Given the description of an element on the screen output the (x, y) to click on. 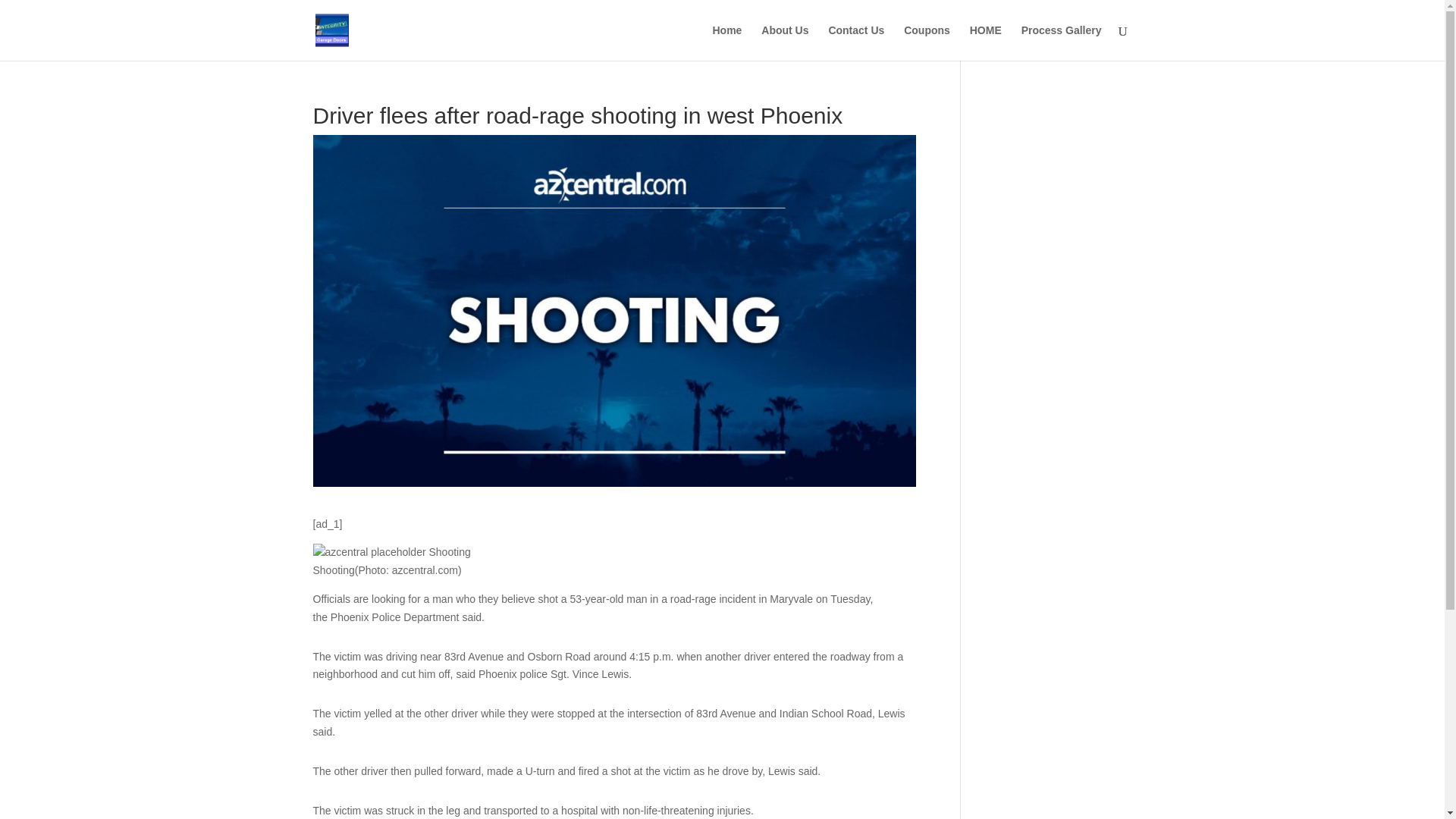
Contact Us (855, 42)
About Us (784, 42)
Process Gallery (1062, 42)
HOME (985, 42)
Coupons (927, 42)
